Given the description of an element on the screen output the (x, y) to click on. 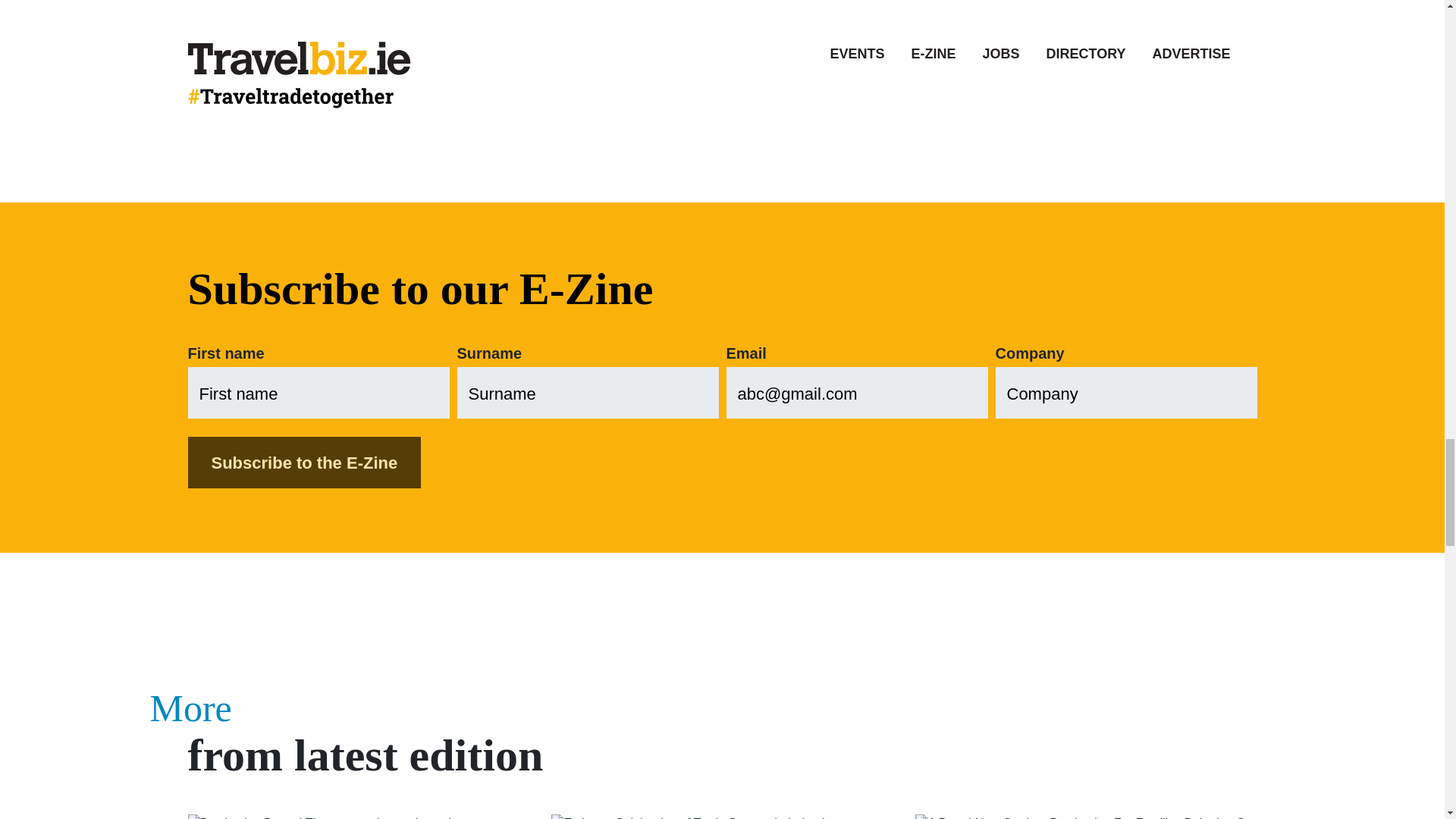
Subscribe to the E-Zine (304, 462)
Subscribe to the E-Zine (304, 462)
